Given the description of an element on the screen output the (x, y) to click on. 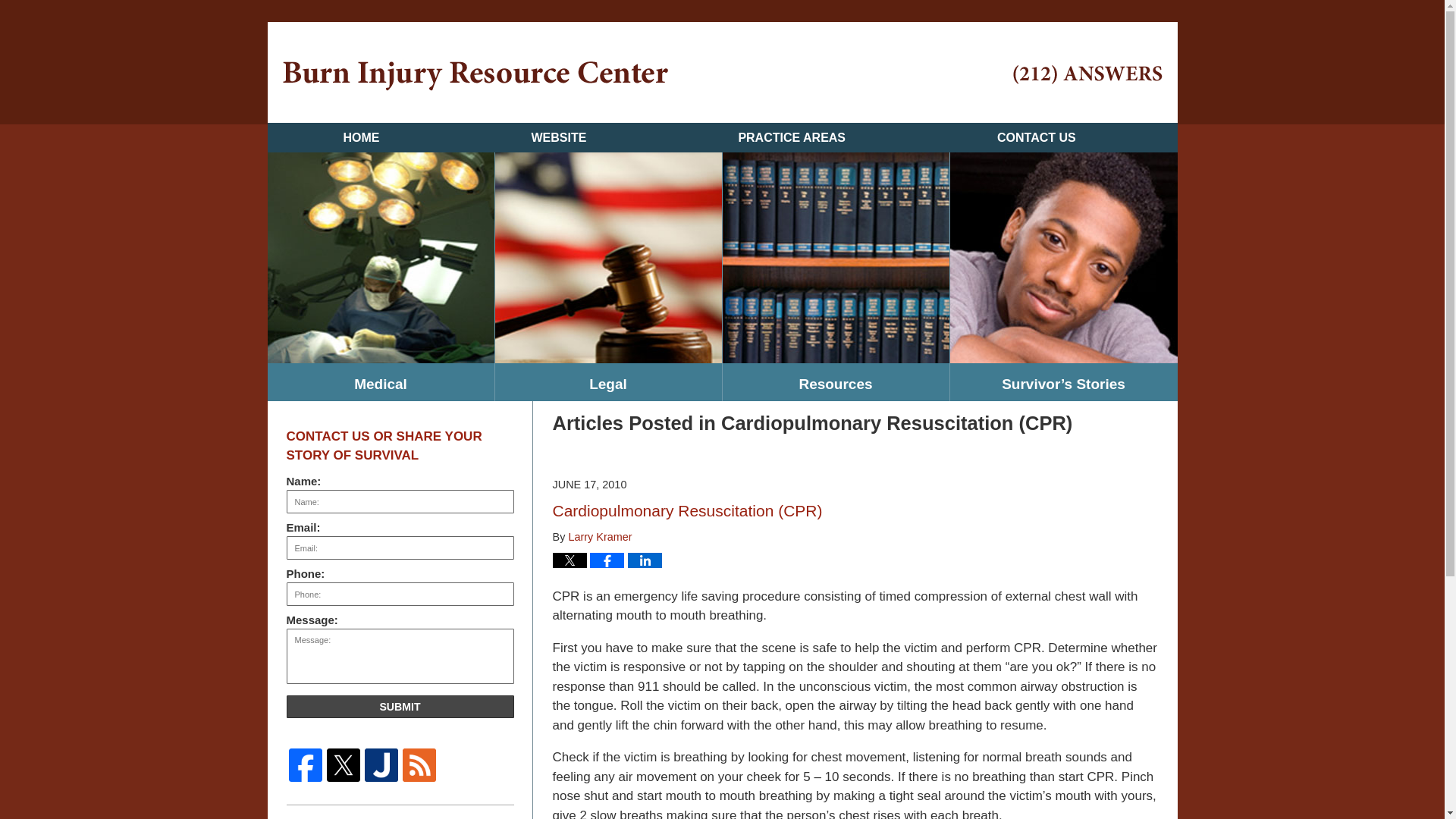
HOME (360, 137)
PRACTICE AREAS (791, 137)
Burn Injury Resource Center (474, 75)
Legal (607, 382)
Please enter a valid phone number. (399, 594)
Resources (835, 382)
Larry Kramer (599, 536)
Facebook (305, 765)
CONTACT US (1036, 137)
Twitter (343, 765)
Feed (419, 765)
WEBSITE (558, 137)
Medical (379, 382)
Justia (381, 765)
SUBMIT (399, 706)
